Given the description of an element on the screen output the (x, y) to click on. 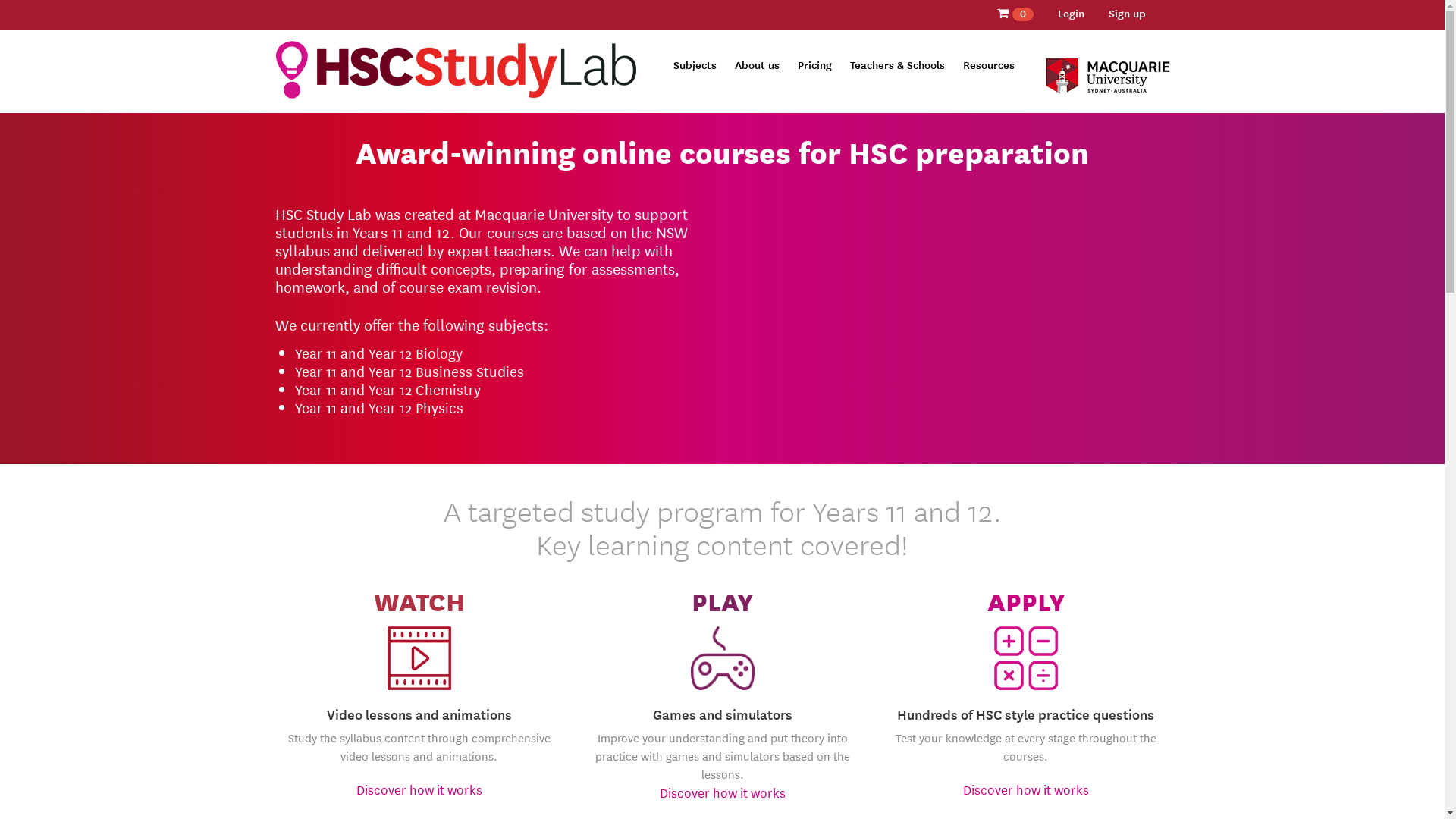
Pricing Element type: text (814, 64)
0 Element type: text (1014, 13)
WATCH Element type: text (418, 600)
Discover how it works Element type: text (722, 791)
Login Element type: text (1070, 12)
APPLY Element type: text (1025, 600)
Resources Element type: text (988, 64)
PLAY Element type: text (721, 600)
Subjects Element type: text (694, 64)
Discover how it works Element type: text (1025, 788)
Teachers & Schools Element type: text (896, 64)
About us Element type: text (756, 64)
Sign up Element type: text (1126, 12)
Discover how it works Element type: text (419, 788)
